Given the description of an element on the screen output the (x, y) to click on. 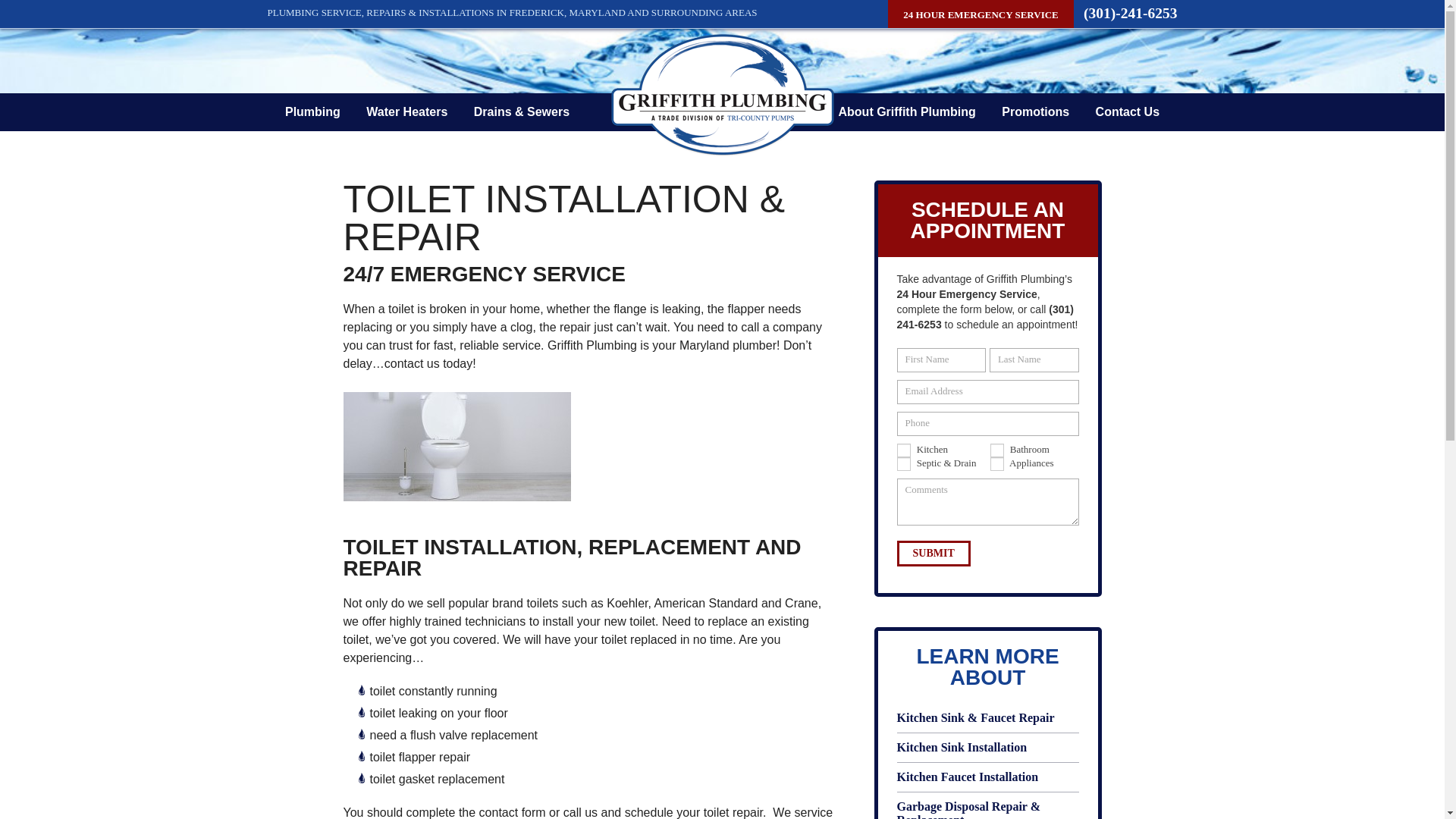
Contact Us (1127, 111)
Water Heaters (406, 111)
24 HOUR EMERGENCY SERVICE (981, 13)
About Griffith Plumbing (907, 111)
Promotions (1035, 111)
Kitchen Faucet Installation (987, 777)
Plumbing (312, 111)
Kitchen Sink Installation (987, 747)
Kitchen (903, 450)
Bathroom (997, 450)
Appliances (997, 463)
Contact Griffith Plumbing (1127, 111)
Submit (932, 553)
About Griffith Plumbing (907, 111)
